Given the description of an element on the screen output the (x, y) to click on. 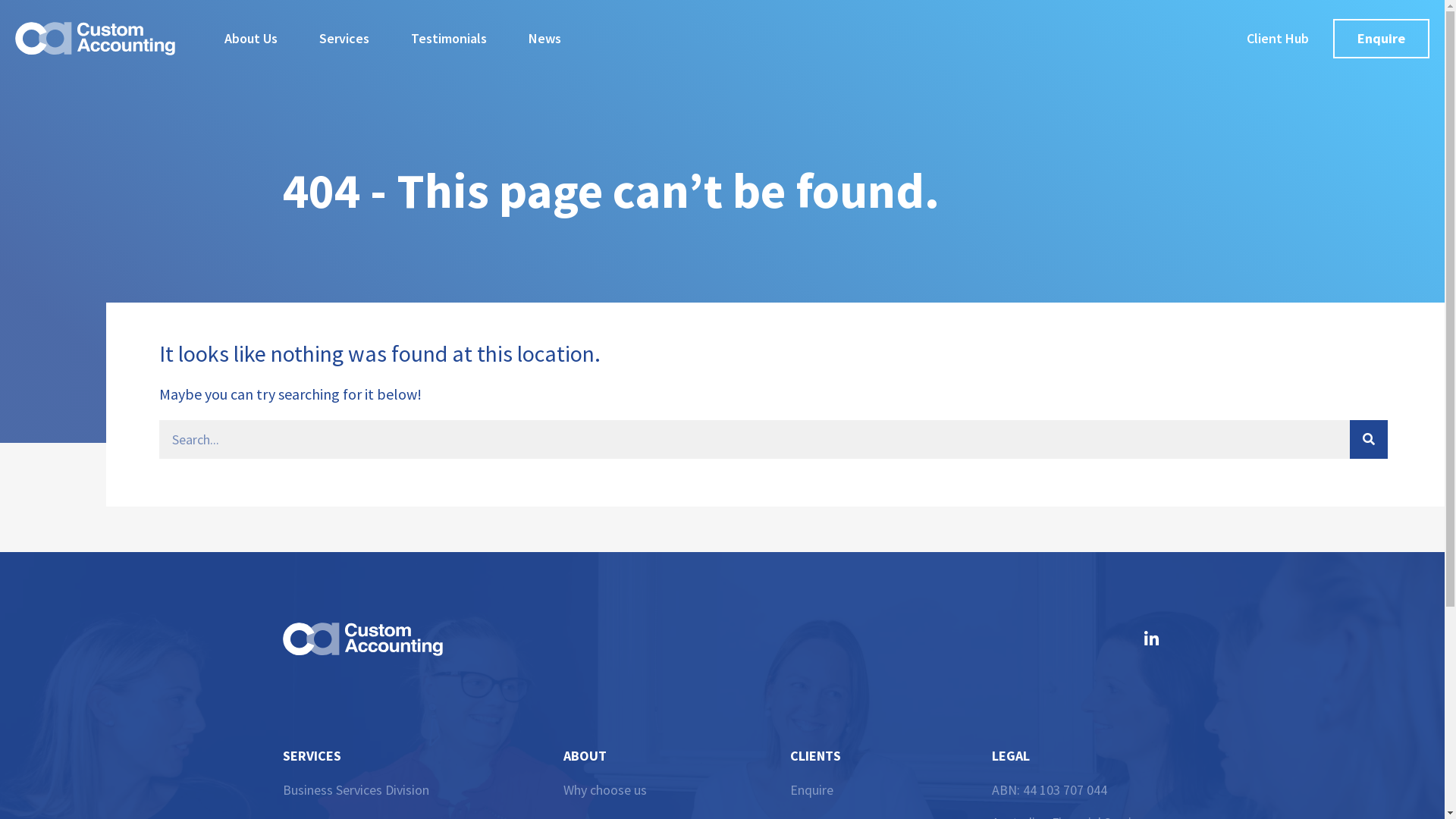
About Us Element type: text (250, 38)
Services Element type: text (344, 38)
Enquire Element type: text (890, 789)
News Element type: text (544, 38)
Enquire Element type: text (1381, 38)
Testimonials Element type: text (448, 38)
Why choose us Element type: text (676, 789)
Business Services Division Element type: text (355, 789)
Client Hub Element type: text (1277, 38)
